Given the description of an element on the screen output the (x, y) to click on. 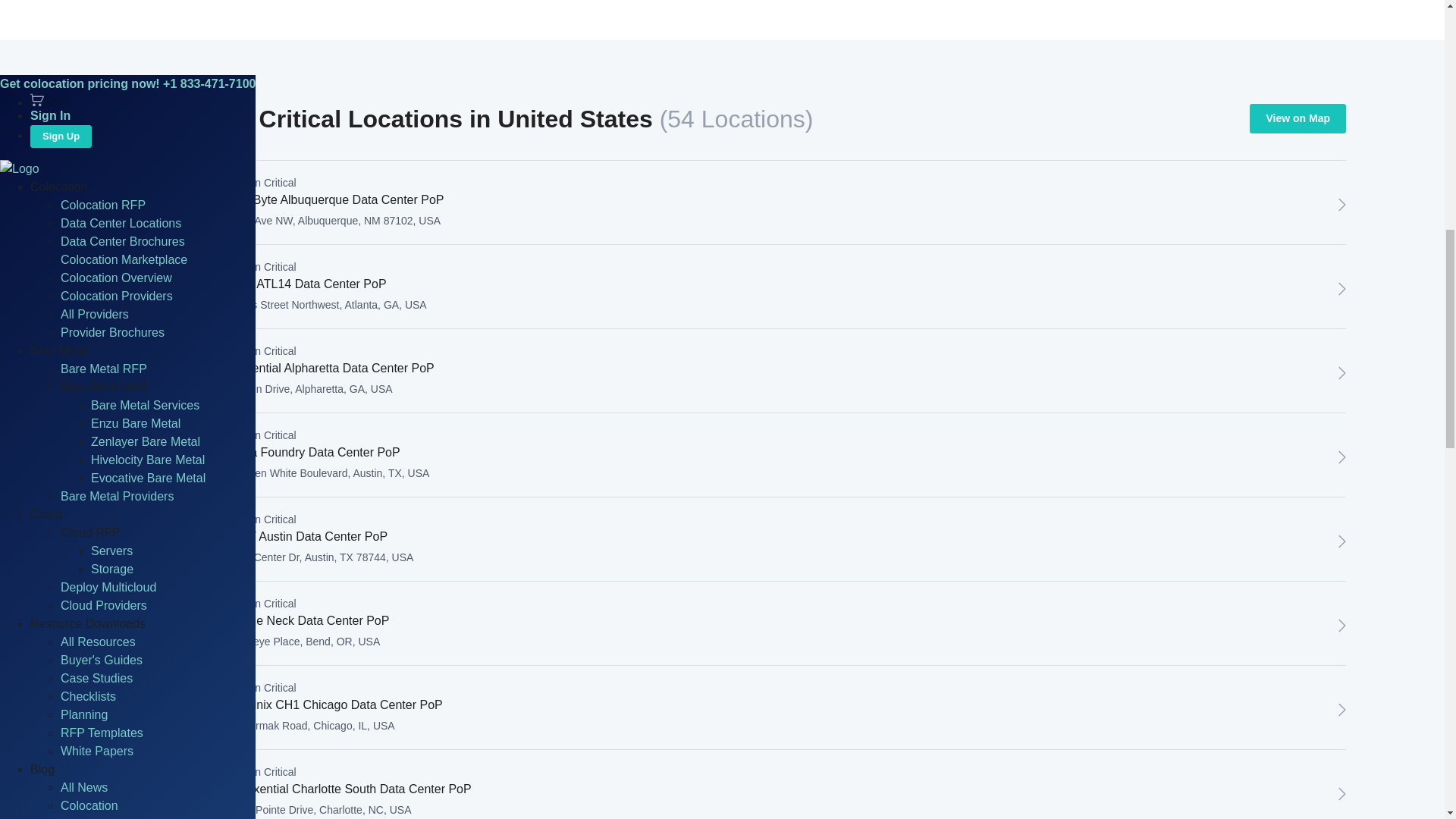
Chat (1342, 204)
Chat (1342, 541)
Chat (1342, 625)
Cloud (77, 41)
Bare Metal (90, 5)
Multicloud (88, 95)
Gaming (82, 77)
Chat (1342, 456)
Chat (1342, 710)
Chat (1342, 793)
